Given the description of an element on the screen output the (x, y) to click on. 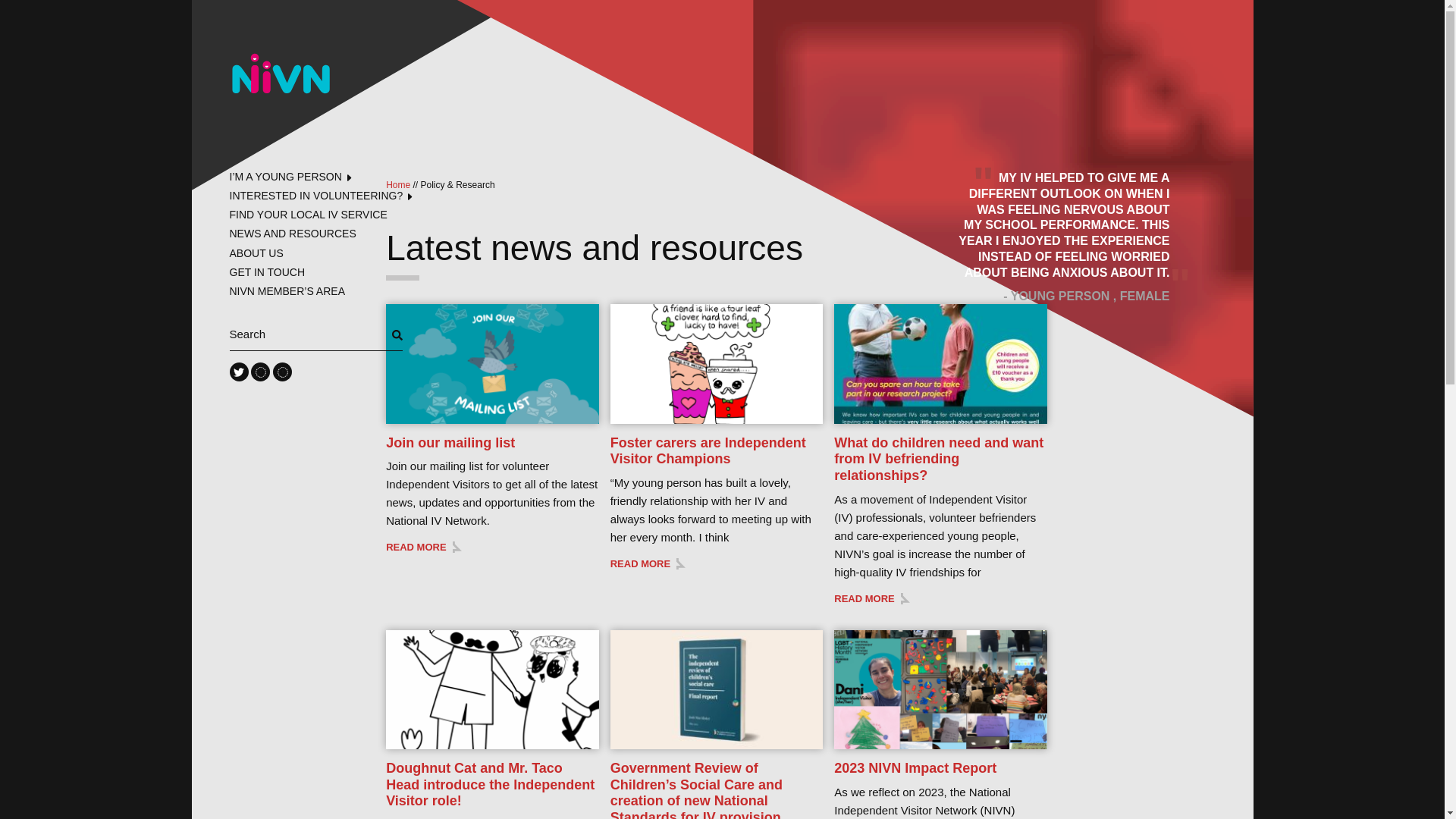
NEWS AND RESOURCES (291, 233)
READ MORE (423, 546)
READ MORE (647, 563)
2023 NIVN Impact Report (914, 767)
FIND YOUR LOCAL IV SERVICE (307, 214)
Foster carers are Independent Visitor Champions (708, 450)
GET IN TOUCH (266, 272)
READ MORE (871, 598)
ABOUT US (255, 253)
Youtube (259, 371)
Twitter (237, 371)
INTERESTED IN VOLUNTEERING? (315, 195)
Join our mailing list (450, 442)
